Given the description of an element on the screen output the (x, y) to click on. 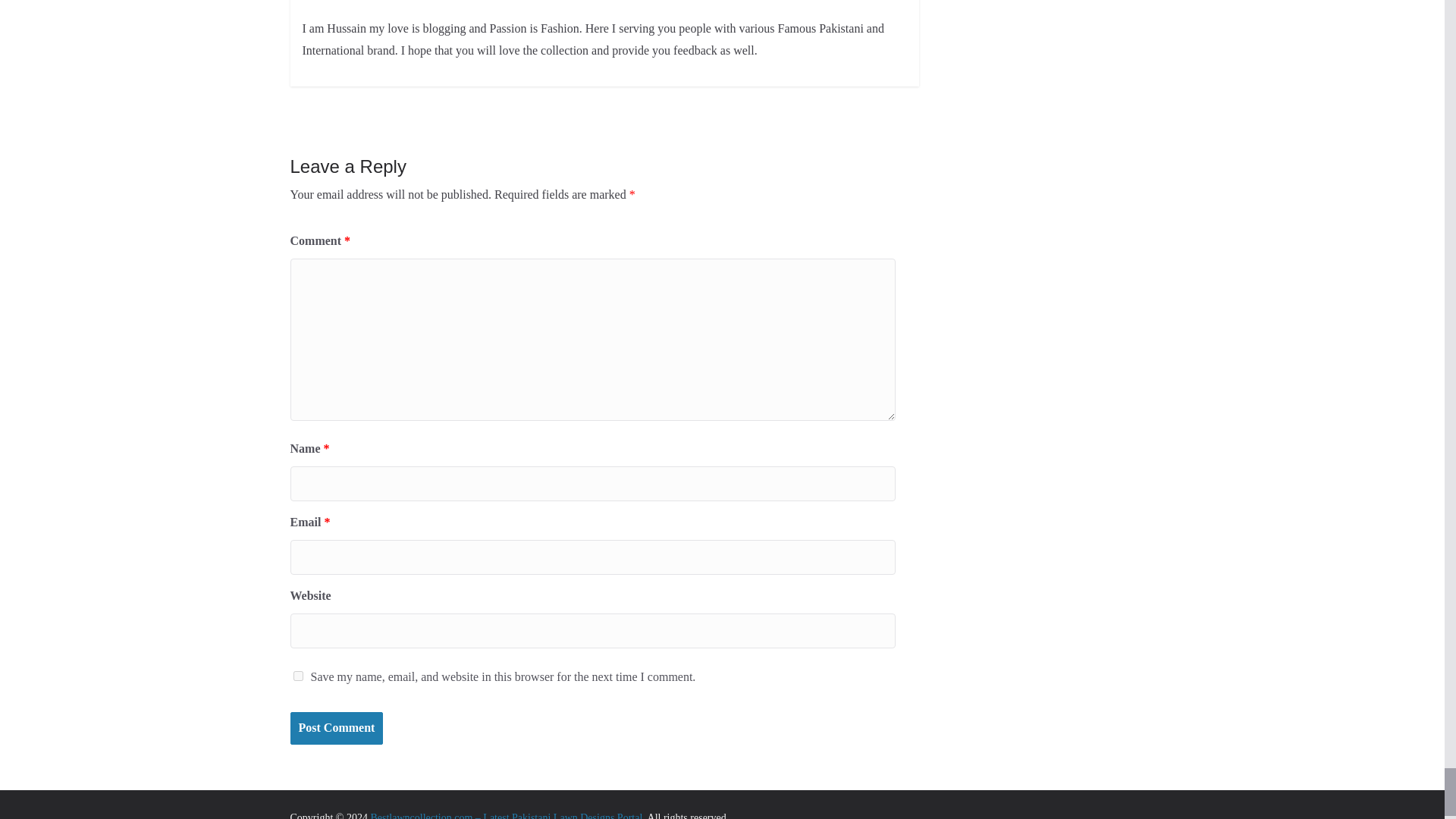
yes (297, 675)
Post Comment (335, 727)
